Given the description of an element on the screen output the (x, y) to click on. 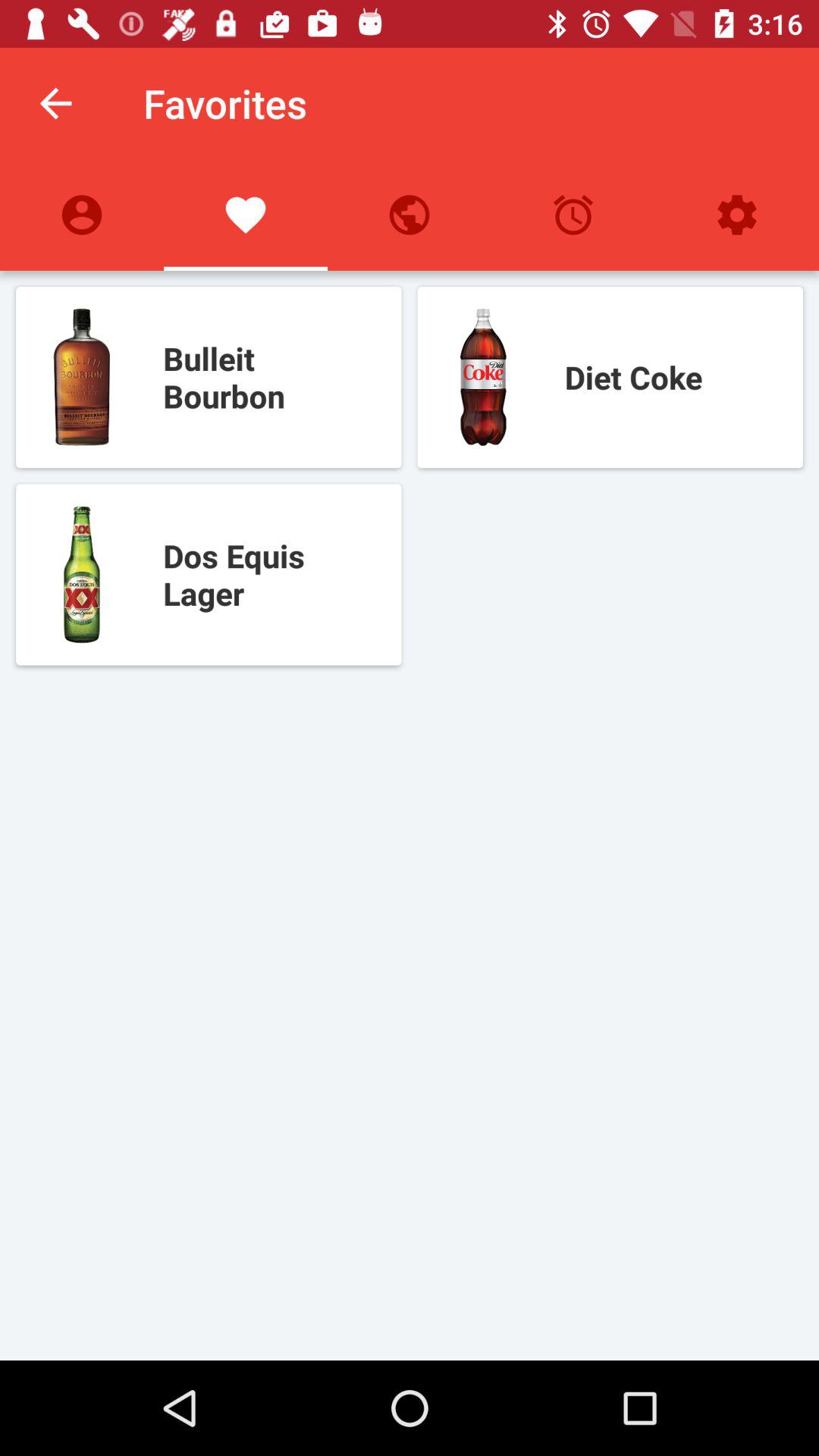
tap icon next to favorites icon (55, 103)
